Given the description of an element on the screen output the (x, y) to click on. 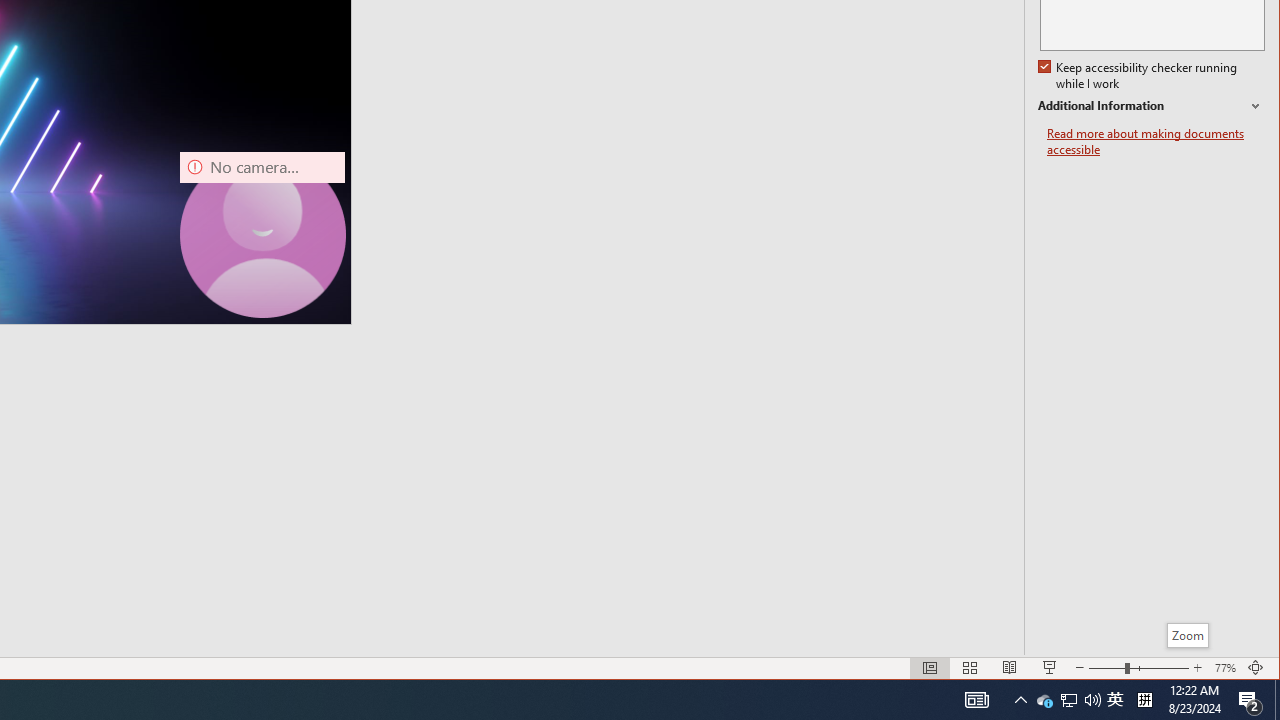
Camera 7, No camera detected. (261, 233)
